Given the description of an element on the screen output the (x, y) to click on. 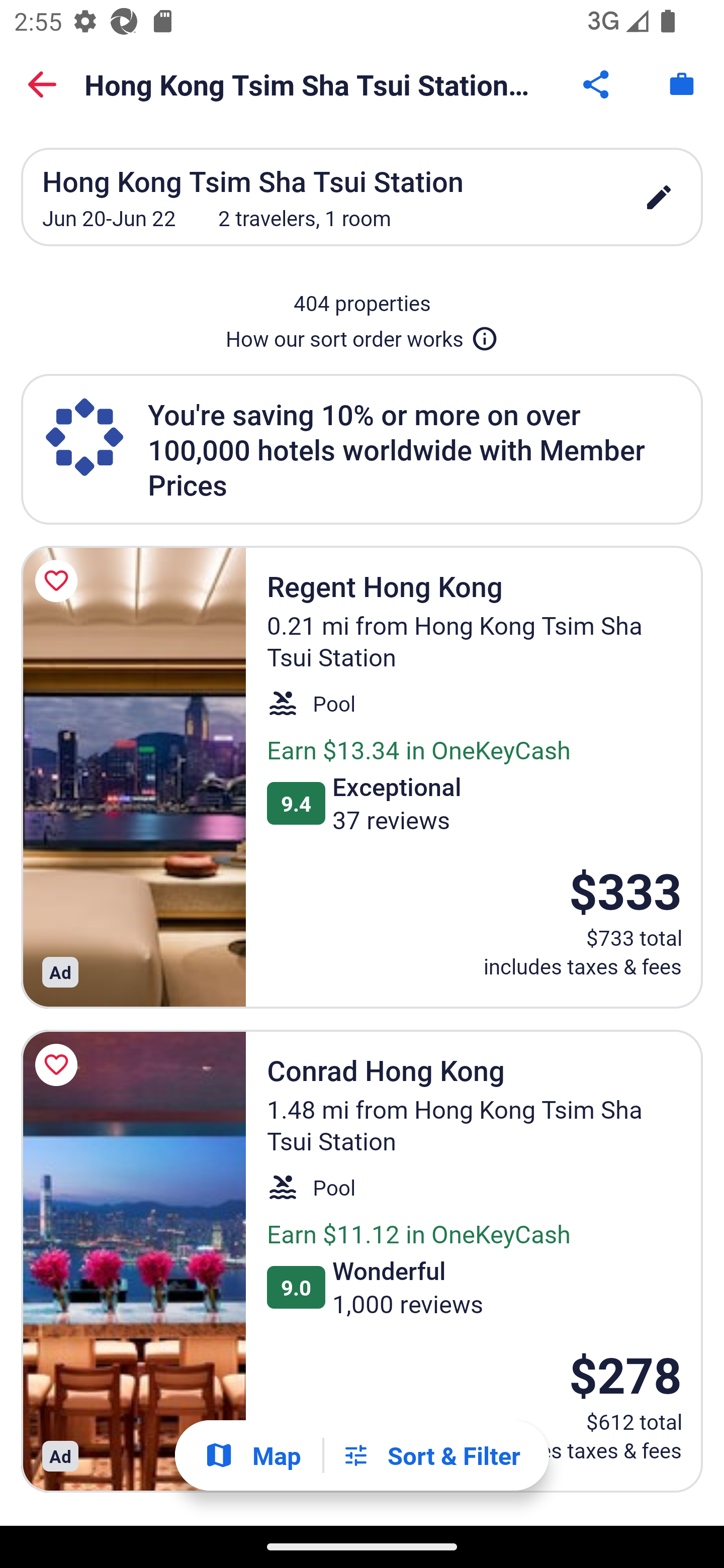
Back (42, 84)
Share Button (597, 84)
Trips. Button (681, 84)
How our sort order works (361, 334)
Save Regent Hong Kong to a trip (59, 580)
Regent Hong Kong (133, 776)
Save Conrad Hong Kong to a trip (59, 1064)
Conrad Hong Kong (133, 1261)
Filters Sort & Filter Filters Button (430, 1455)
Show map Map Show map Button (252, 1455)
